Given the description of an element on the screen output the (x, y) to click on. 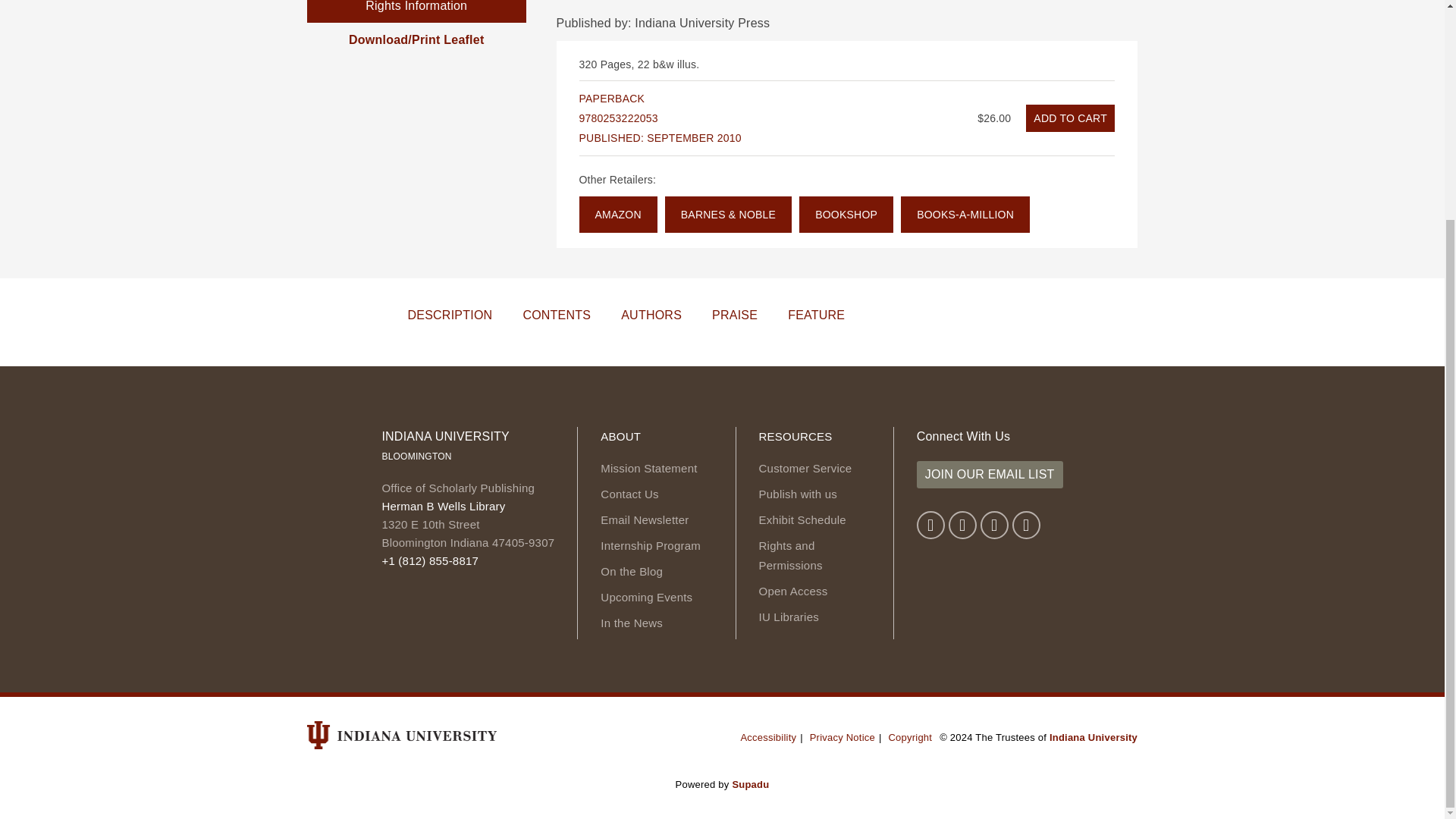
Books-A-Million (965, 214)
Amazon (618, 214)
Herman B Wells Library 350 (443, 505)
Follow us on Facebook (930, 524)
Bookshop (846, 214)
Paperback (1070, 117)
Join our Email List (989, 474)
